Given the description of an element on the screen output the (x, y) to click on. 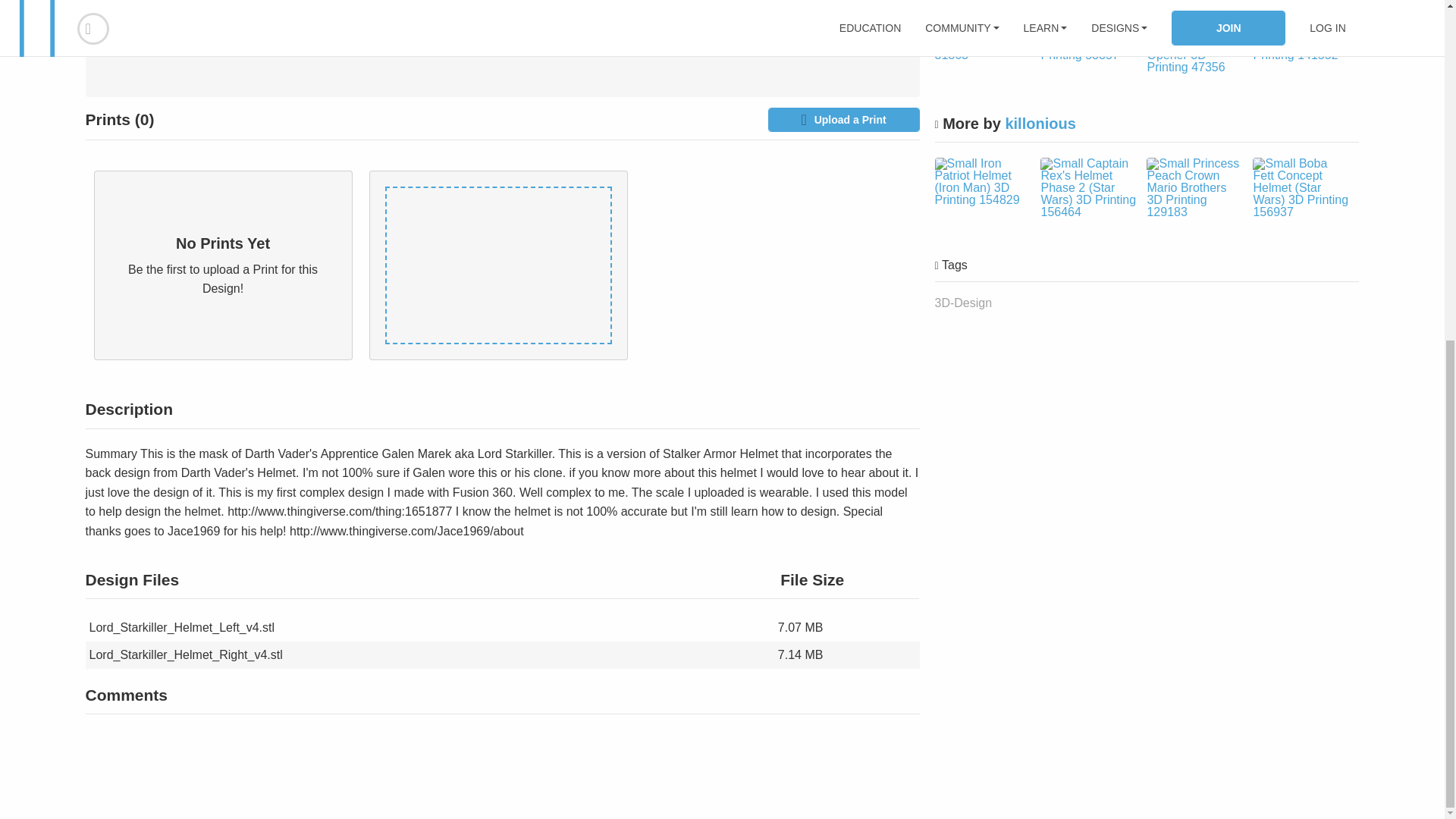
Small Ball Maze 3D Printing 31863 (981, 43)
Upload a Print (842, 119)
Small Geared Spinner 3D Printing 141552 (1300, 43)
Small Princess Peach Crown Mario Brothers 3D Printing 129183 (1194, 188)
Small 3D Printable Bottle Opener 3D Printing 47356 (1194, 49)
Small Ball Lock Puzzle 3D Printing 53857 (1088, 43)
